Given the description of an element on the screen output the (x, y) to click on. 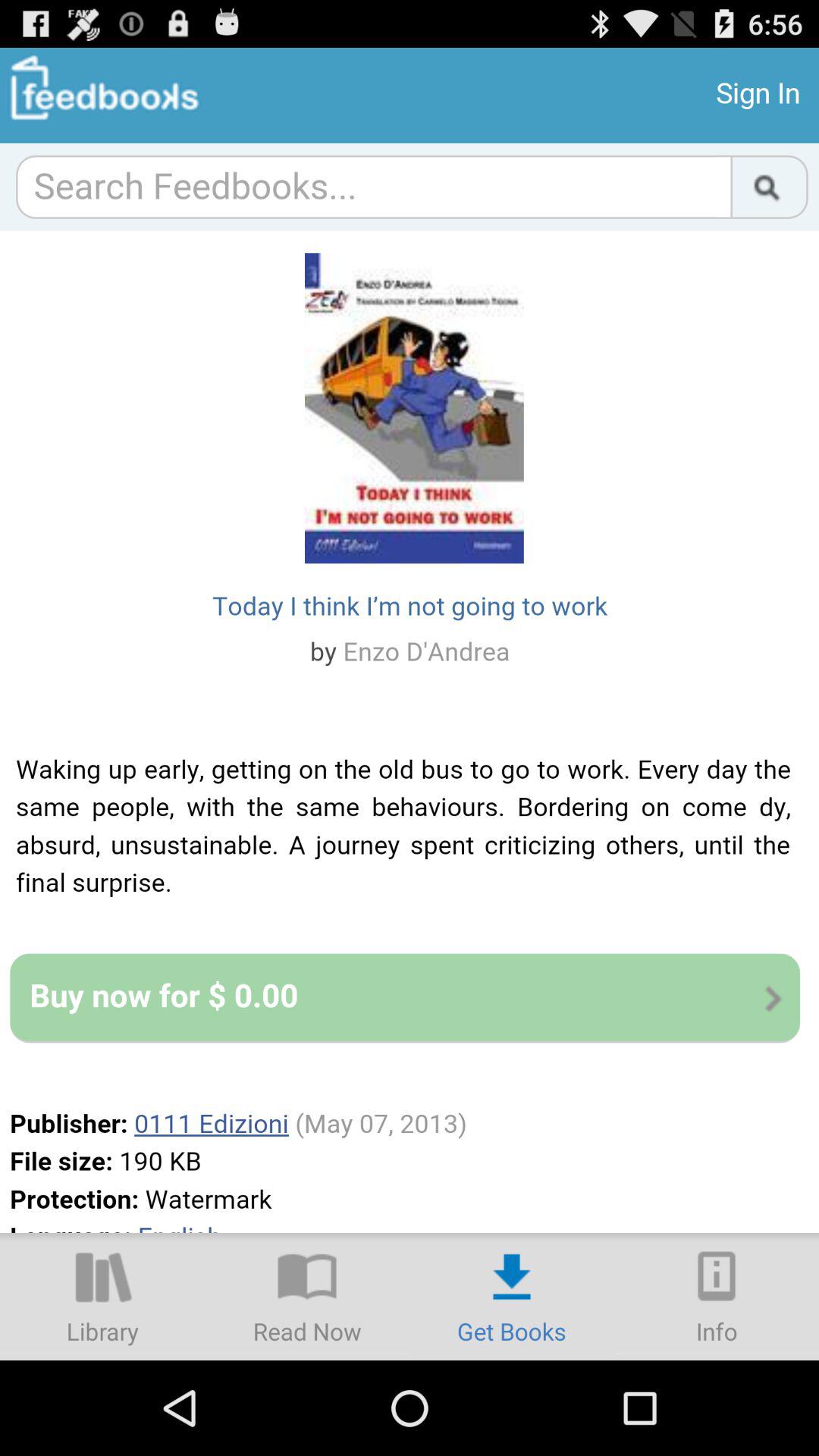
get books (511, 1296)
